Given the description of an element on the screen output the (x, y) to click on. 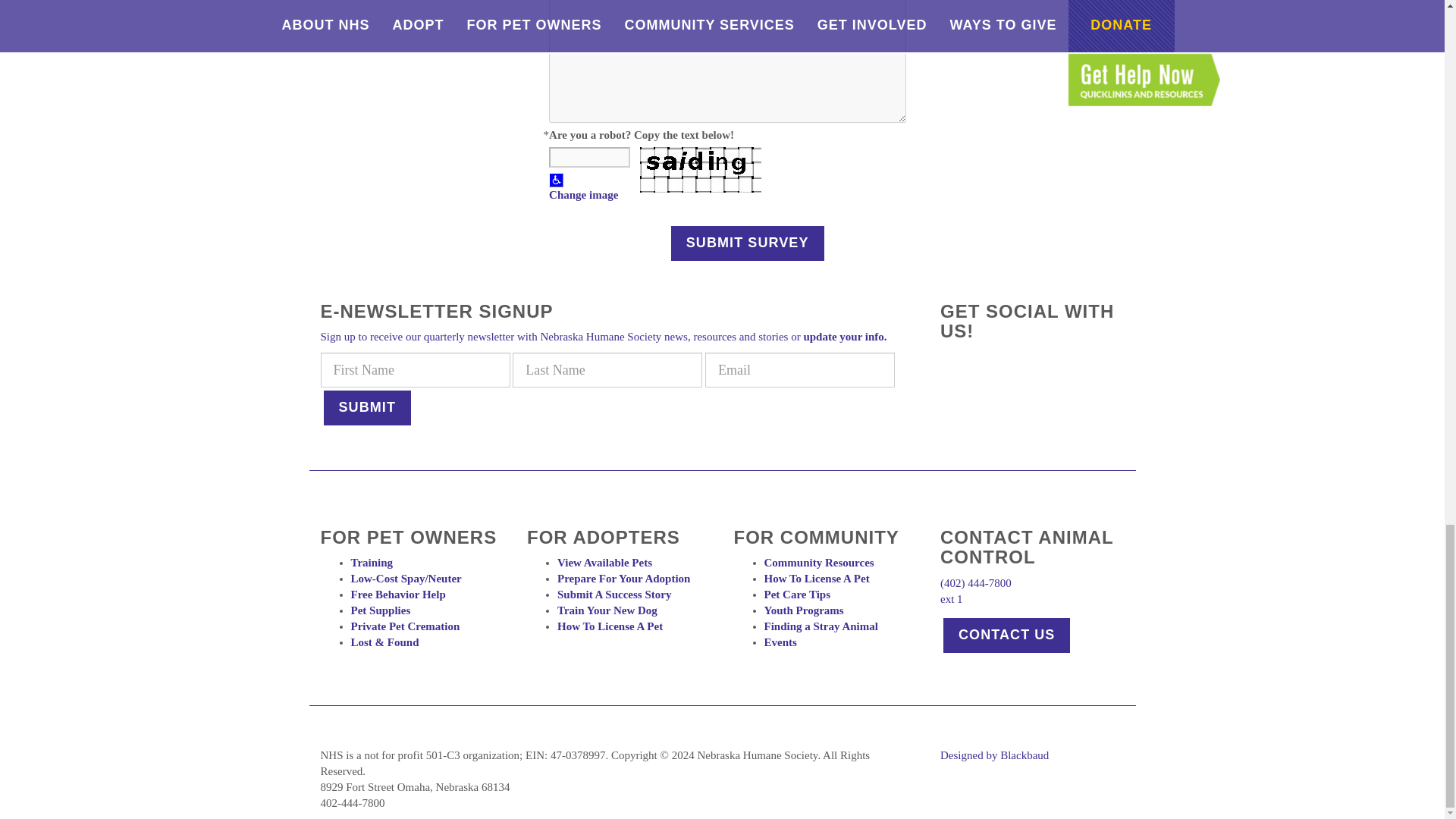
Submit Survey (747, 243)
